Given the description of an element on the screen output the (x, y) to click on. 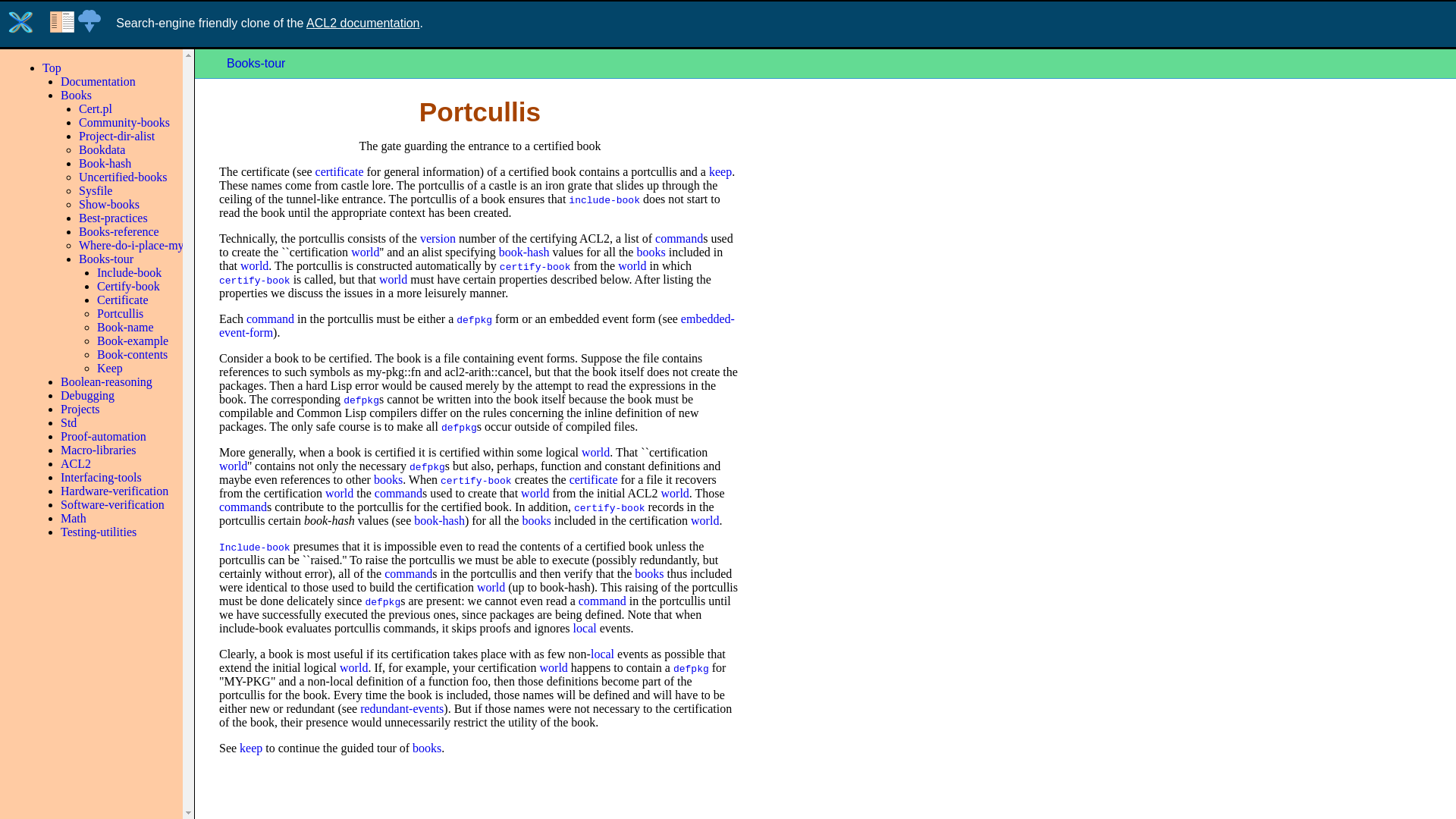
ACL2 documentation (362, 22)
